Given the description of an element on the screen output the (x, y) to click on. 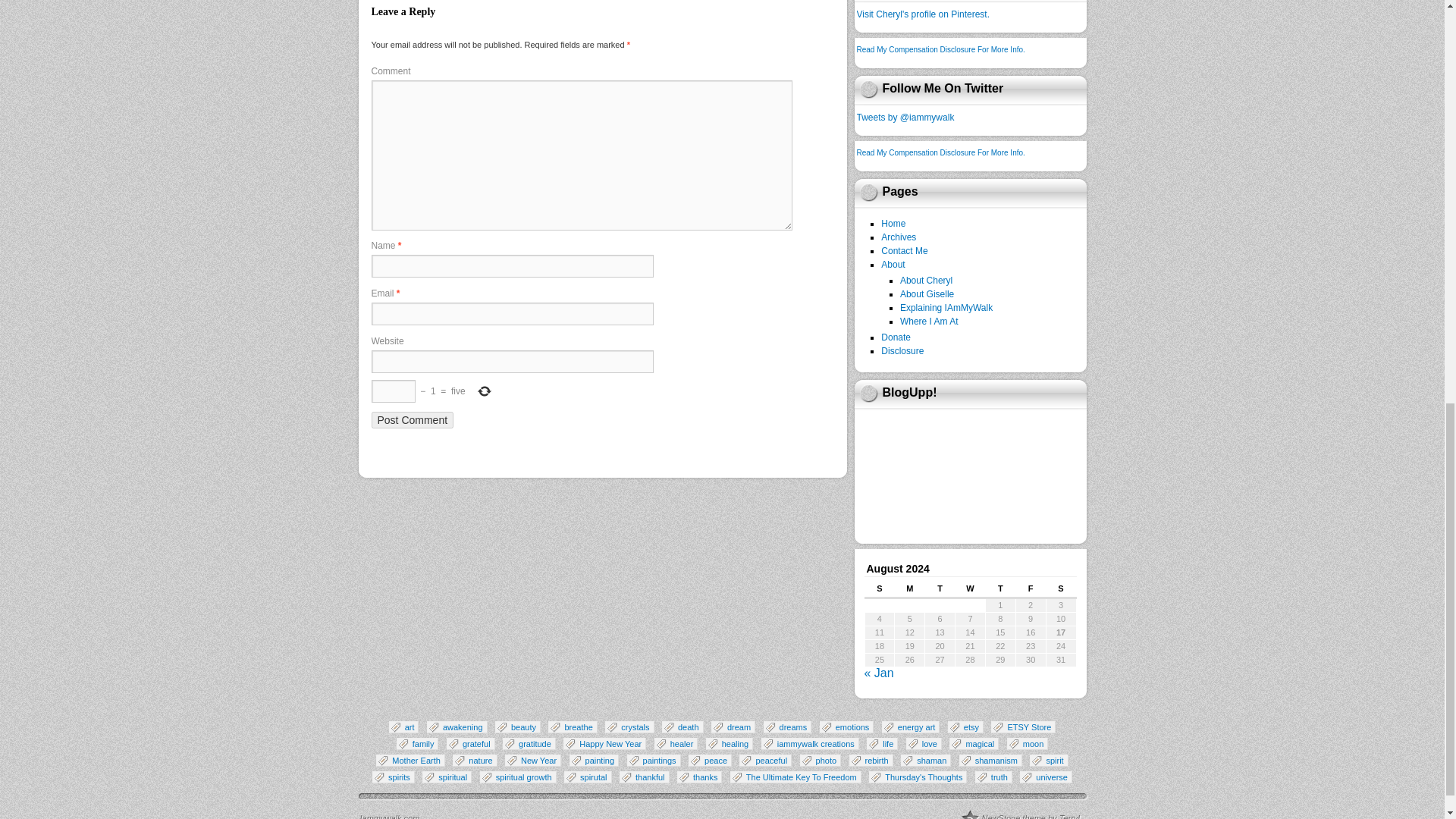
About Cheryl (925, 280)
About (892, 264)
About Giselle (926, 294)
Disclosure (901, 350)
About Cheryl (925, 280)
About (892, 264)
Post Comment (412, 419)
Visit Cheryl's profile on Pinterest. (923, 14)
Monday (909, 591)
Post Comment (412, 419)
